Given the description of an element on the screen output the (x, y) to click on. 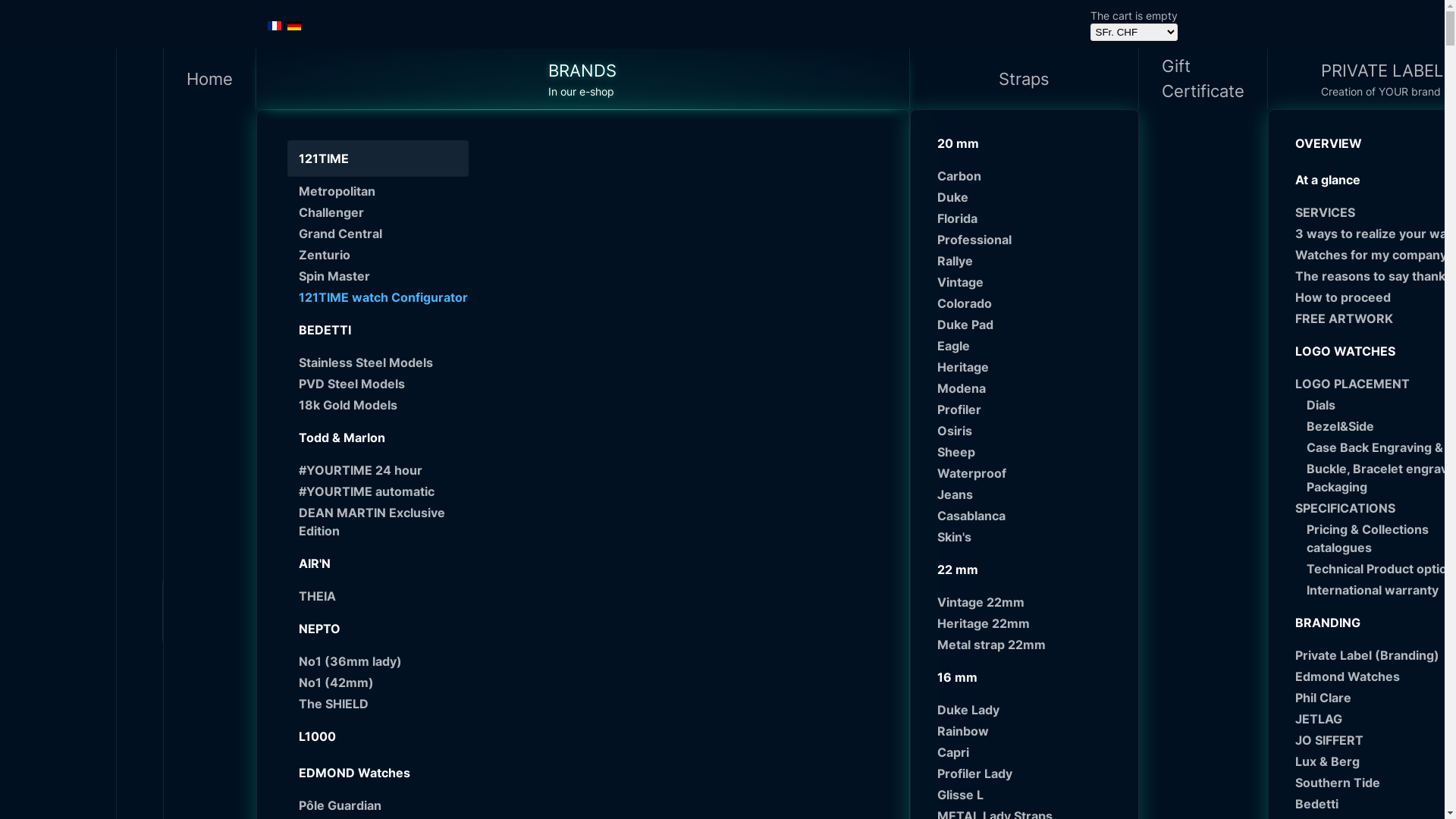
Zenturio Element type: text (383, 254)
Colorado Element type: text (1030, 302)
Profiler Lady Element type: text (1030, 773)
EDMOND Watches Element type: text (377, 772)
THEIA Element type: text (383, 595)
PVD Steel Models Element type: text (383, 383)
16 mm Element type: text (1023, 676)
Modena Element type: text (1030, 387)
Home Element type: text (209, 78)
DEAN MARTIN Exclusive Edition Element type: text (383, 521)
Vintage Element type: text (1030, 281)
L1000 Element type: text (377, 736)
Sheep Element type: text (1030, 451)
Gift Certificate Element type: text (1203, 78)
Duke Lady Element type: text (1030, 709)
Capri Element type: text (1030, 751)
Heritage 22mm Element type: text (1030, 622)
AIR'N Element type: text (377, 563)
Carbon Element type: text (1030, 175)
Grand Central Element type: text (383, 233)
20 mm Element type: text (1023, 143)
#YOURTIME 24 hour Element type: text (383, 469)
121TIME watch Configurator Element type: text (383, 296)
Osiris Element type: text (1030, 430)
No1 (36mm lady) Element type: text (383, 660)
Stainless Steel Models Element type: text (383, 362)
Rallye Element type: text (1030, 260)
Challenger Element type: text (383, 211)
BRANDS
In our e-shop Element type: text (583, 78)
Skin's Element type: text (1030, 536)
Duke Element type: text (1030, 196)
Professional Element type: text (1030, 239)
Metal strap 22mm Element type: text (1030, 644)
Spin Master Element type: text (383, 275)
No1 (42mm) Element type: text (383, 682)
Straps Element type: text (1024, 78)
Jeans Element type: text (1030, 494)
Rainbow Element type: text (1030, 730)
Glisse L Element type: text (1030, 794)
Casablanca Element type: text (1030, 515)
Waterproof Element type: text (1030, 472)
Heritage Element type: text (1030, 366)
Florida Element type: text (1030, 218)
Metropolitan Element type: text (383, 190)
18k Gold Models Element type: text (383, 404)
121TIME Element type: text (377, 158)
Todd & Marlon Element type: text (377, 437)
Duke Pad Element type: text (1030, 324)
The SHIELD Element type: text (383, 703)
Vintage 22mm Element type: text (1030, 601)
#YOURTIME automatic Element type: text (383, 491)
BEDETTI Element type: text (377, 329)
NEPTO Element type: text (377, 628)
Profiler Element type: text (1030, 409)
Deutsch Element type: hover (293, 25)
Eagle Element type: text (1030, 345)
22 mm Element type: text (1023, 569)
